Given the description of an element on the screen output the (x, y) to click on. 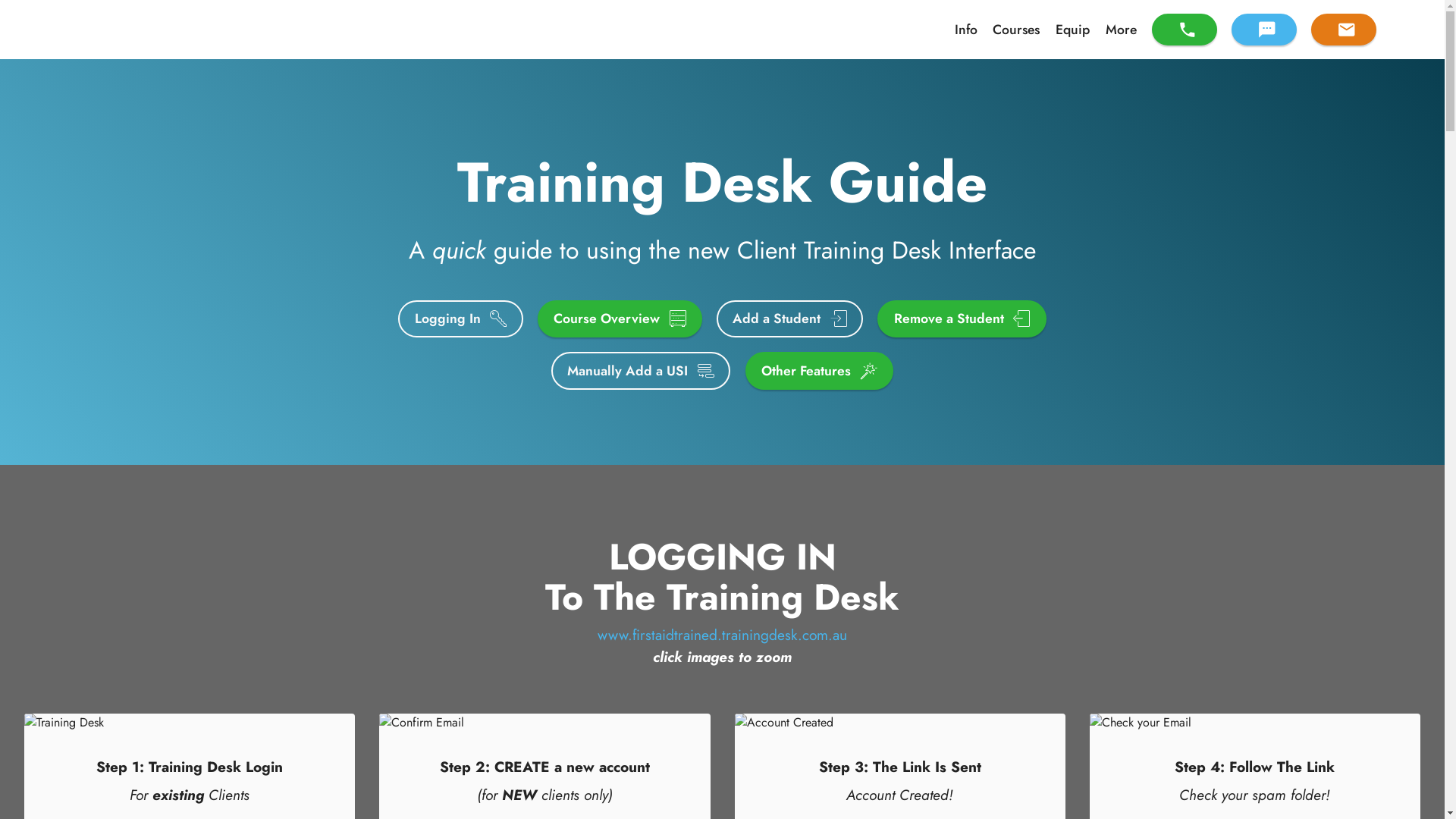
Courses Element type: text (1015, 28)
Add a Student Element type: text (789, 319)
Equip Element type: text (1072, 28)
Manually Add a USI Element type: text (640, 370)
www.firstaidtrained.trainingdesk.com.au Element type: text (722, 634)
Course Overview Element type: text (619, 319)
Other Features Element type: text (819, 370)
Logging In Element type: text (460, 319)
Info Element type: text (965, 28)
Remove a Student Element type: text (961, 319)
More Element type: text (1120, 28)
